Given the description of an element on the screen output the (x, y) to click on. 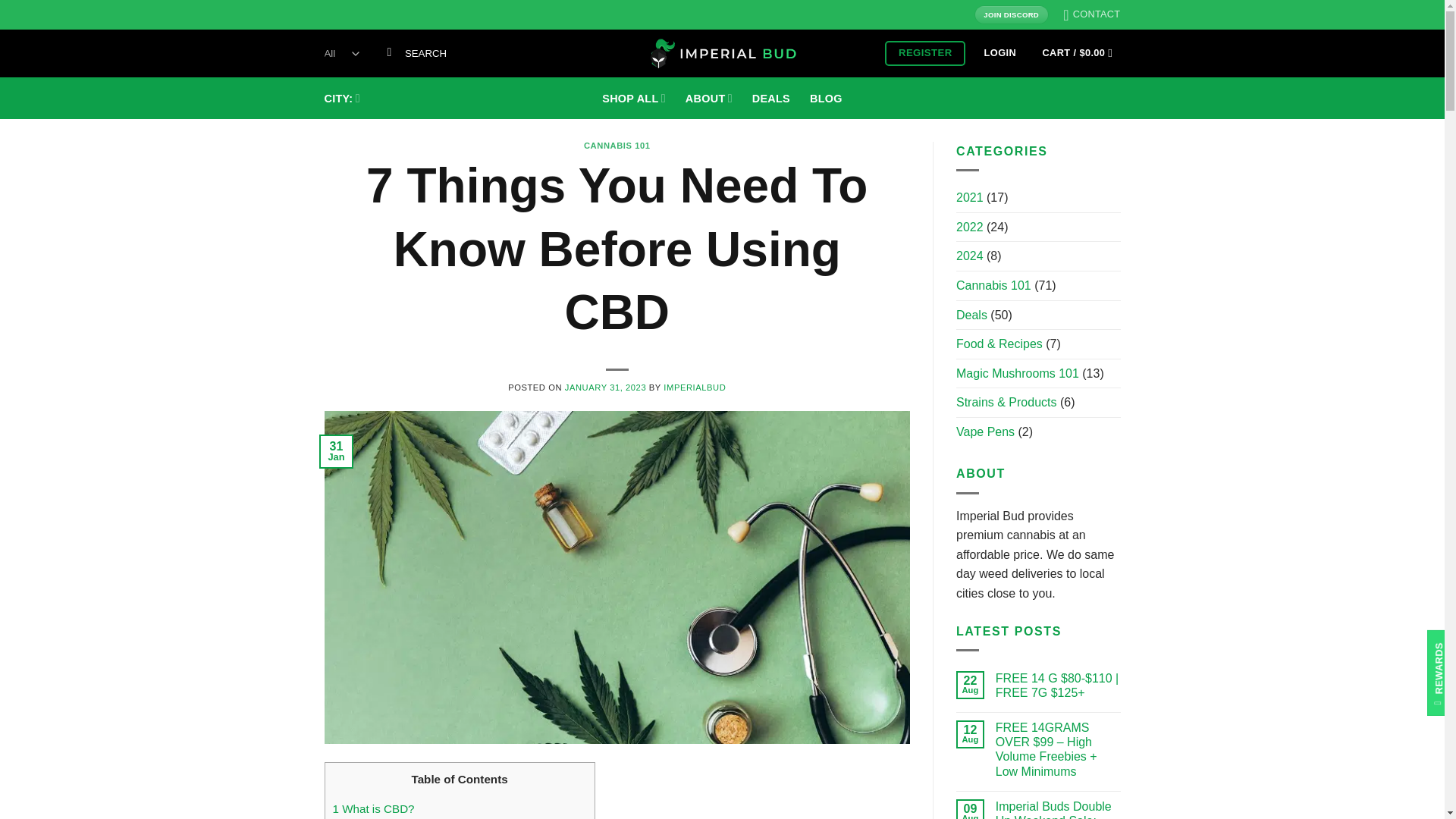
JOIN DISCORD (1011, 14)
LOGIN (999, 53)
Search (389, 53)
Cart (1077, 53)
CITY: (341, 98)
CONTACT (1090, 14)
REGISTER (925, 53)
